Given the description of an element on the screen output the (x, y) to click on. 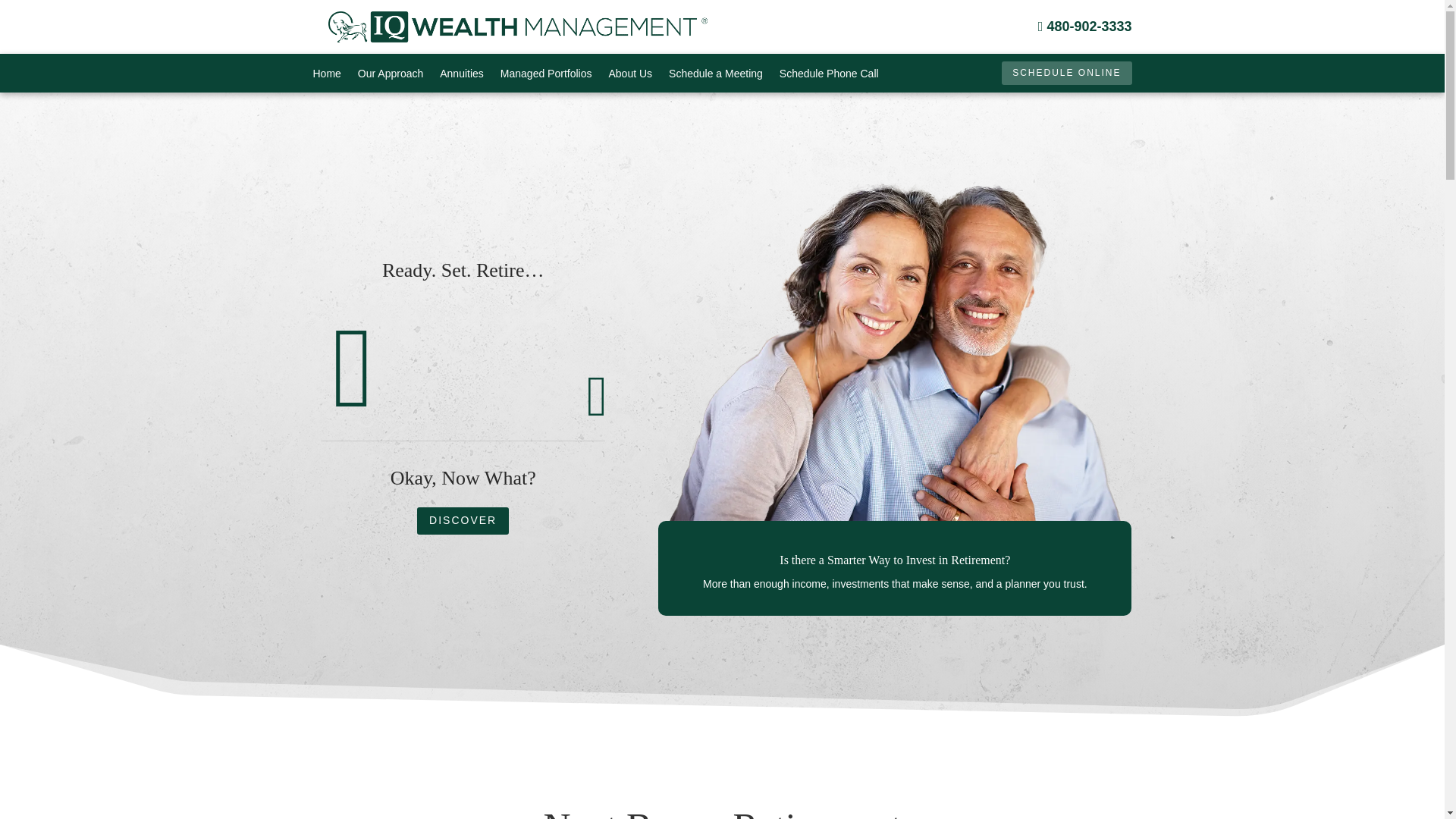
About Us (630, 76)
Managed Portfolios (546, 76)
DISCOVER (462, 520)
Home (326, 76)
Annuities (461, 76)
SCHEDULE ONLINE (1066, 73)
Schedule a Meeting (715, 76)
Schedule Phone Call (828, 76)
Our Approach (390, 76)
